Given the description of an element on the screen output the (x, y) to click on. 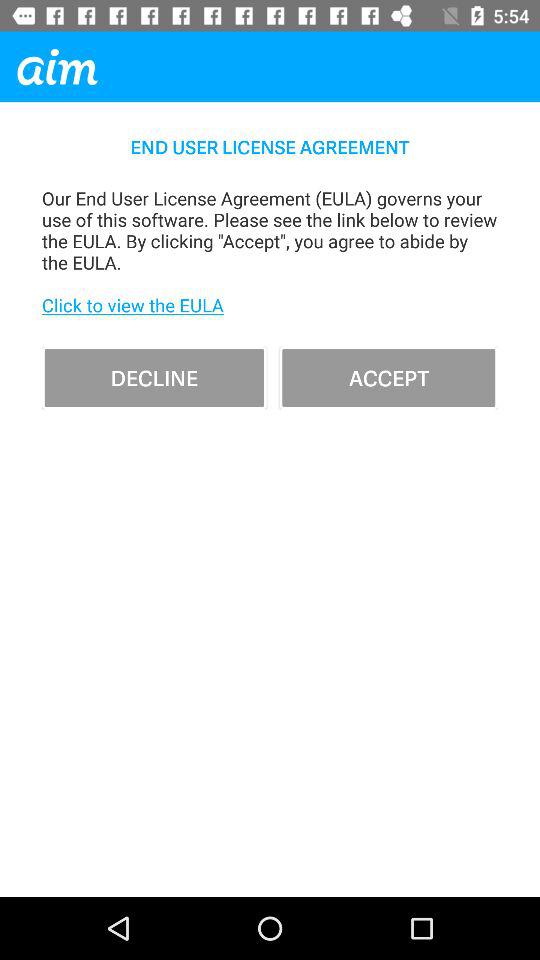
turn off the icon to the left of the accept button (154, 377)
